Given the description of an element on the screen output the (x, y) to click on. 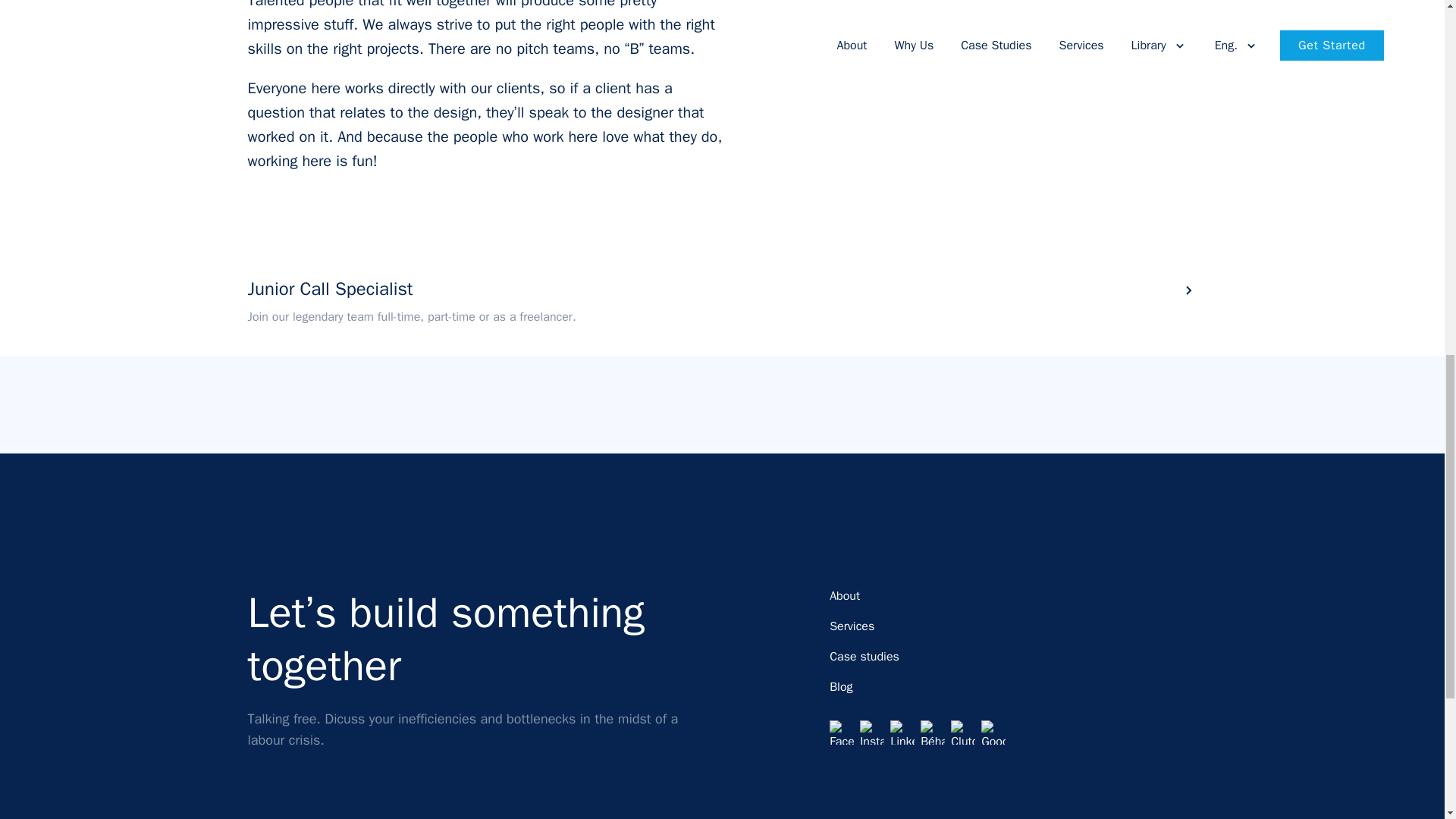
Konstruktor Online on Clutch (962, 732)
KonstruktorOnline Facebook (841, 732)
Konstruktor Online on Instagram (871, 732)
Konstruktor Online on LinkedIn (901, 732)
Blog (840, 686)
About (844, 595)
Services (852, 626)
Konstruktor Online on GoodFirms (993, 732)
Konstruktor Online on Behance (932, 732)
